Given the description of an element on the screen output the (x, y) to click on. 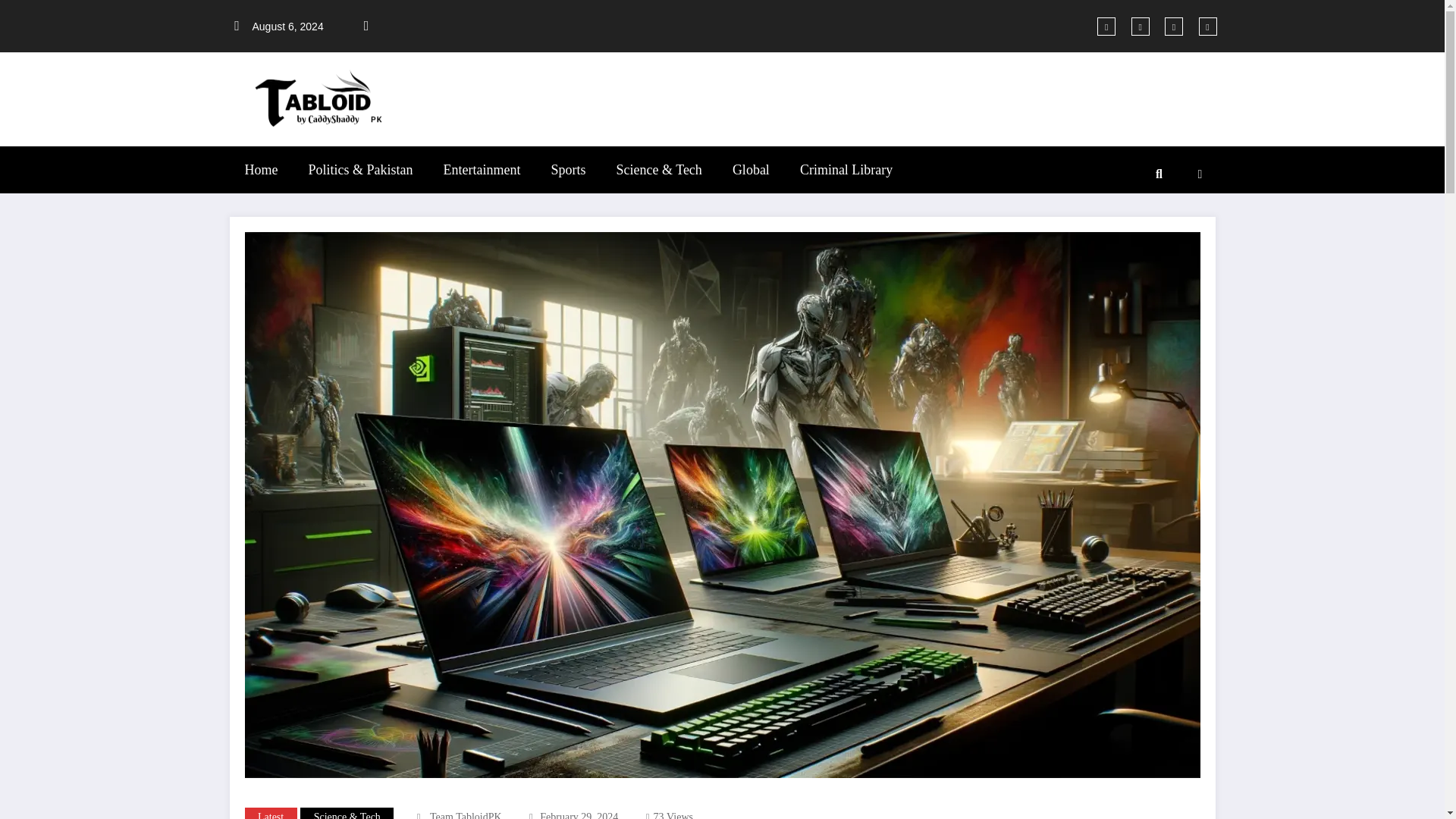
Search (1157, 173)
Dark Light Layout (1199, 173)
Entertainment (481, 169)
instagram (1206, 26)
facebook-f (1106, 26)
Team TabloidPK (465, 815)
linkedin-in (1173, 26)
Posts by Team TabloidPK (465, 815)
Sports (567, 169)
Latest (270, 813)
